Given the description of an element on the screen output the (x, y) to click on. 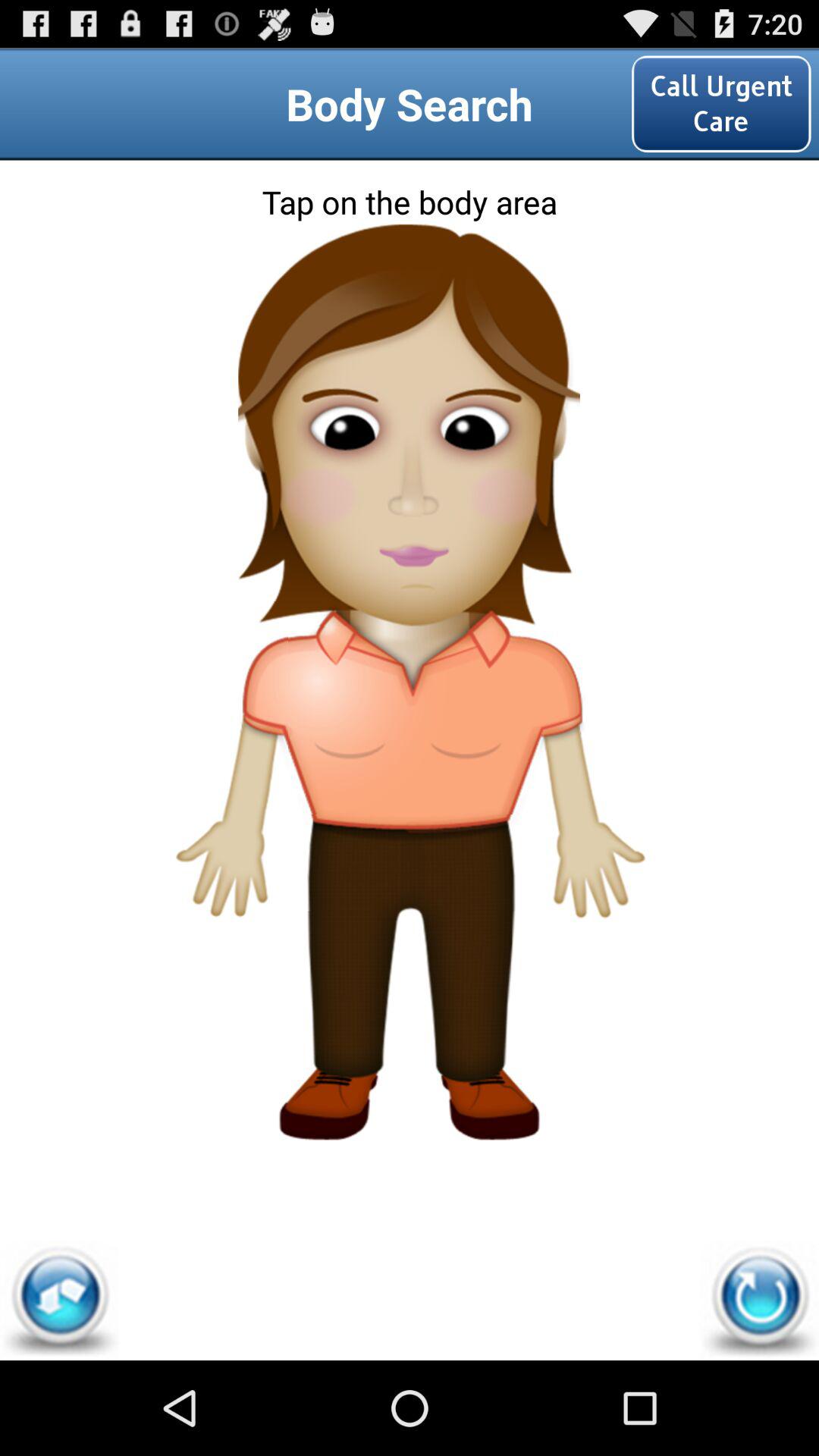
legs and feet button (409, 1025)
